Given the description of an element on the screen output the (x, y) to click on. 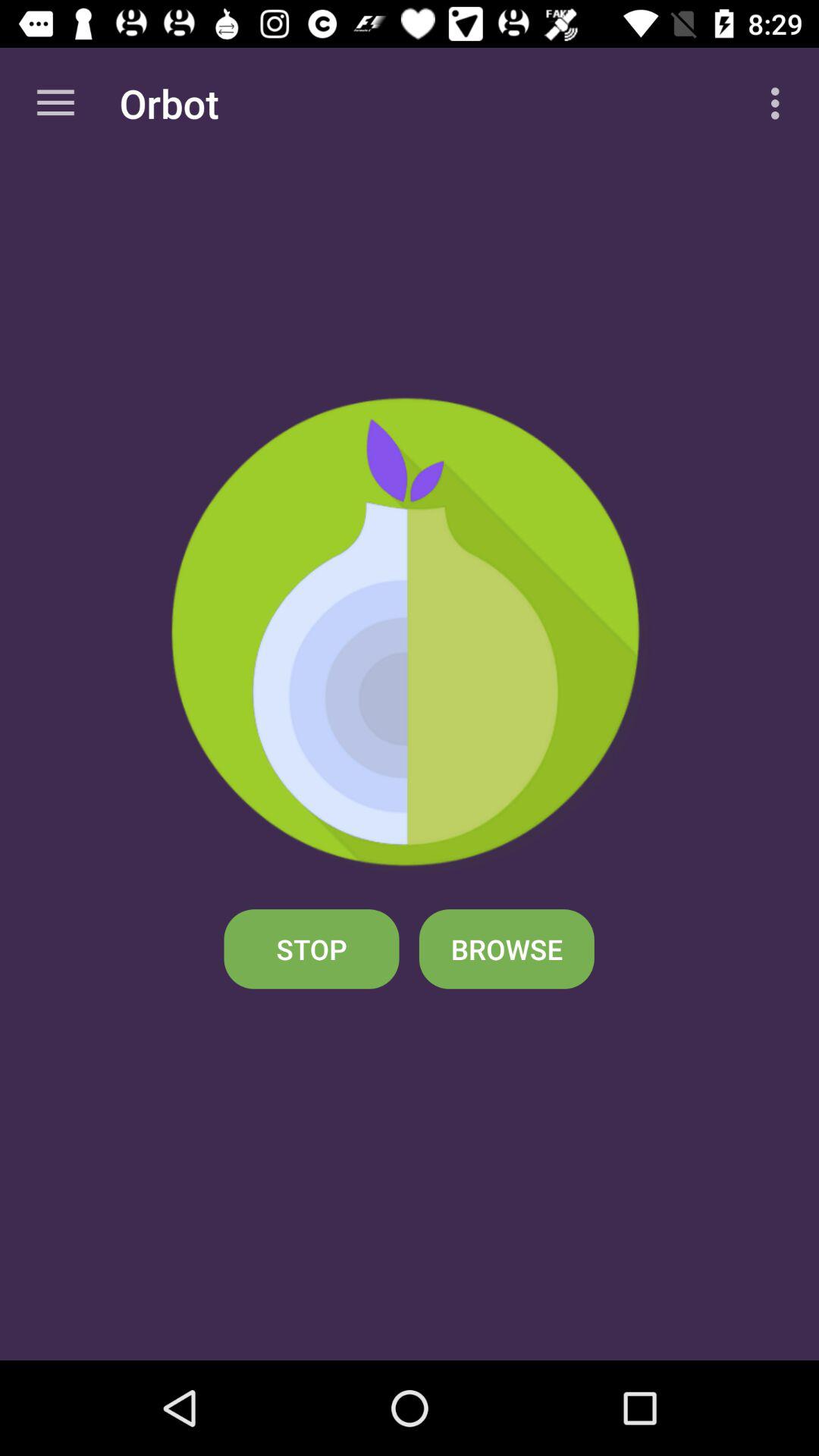
turn on item to the left of browse (311, 949)
